Given the description of an element on the screen output the (x, y) to click on. 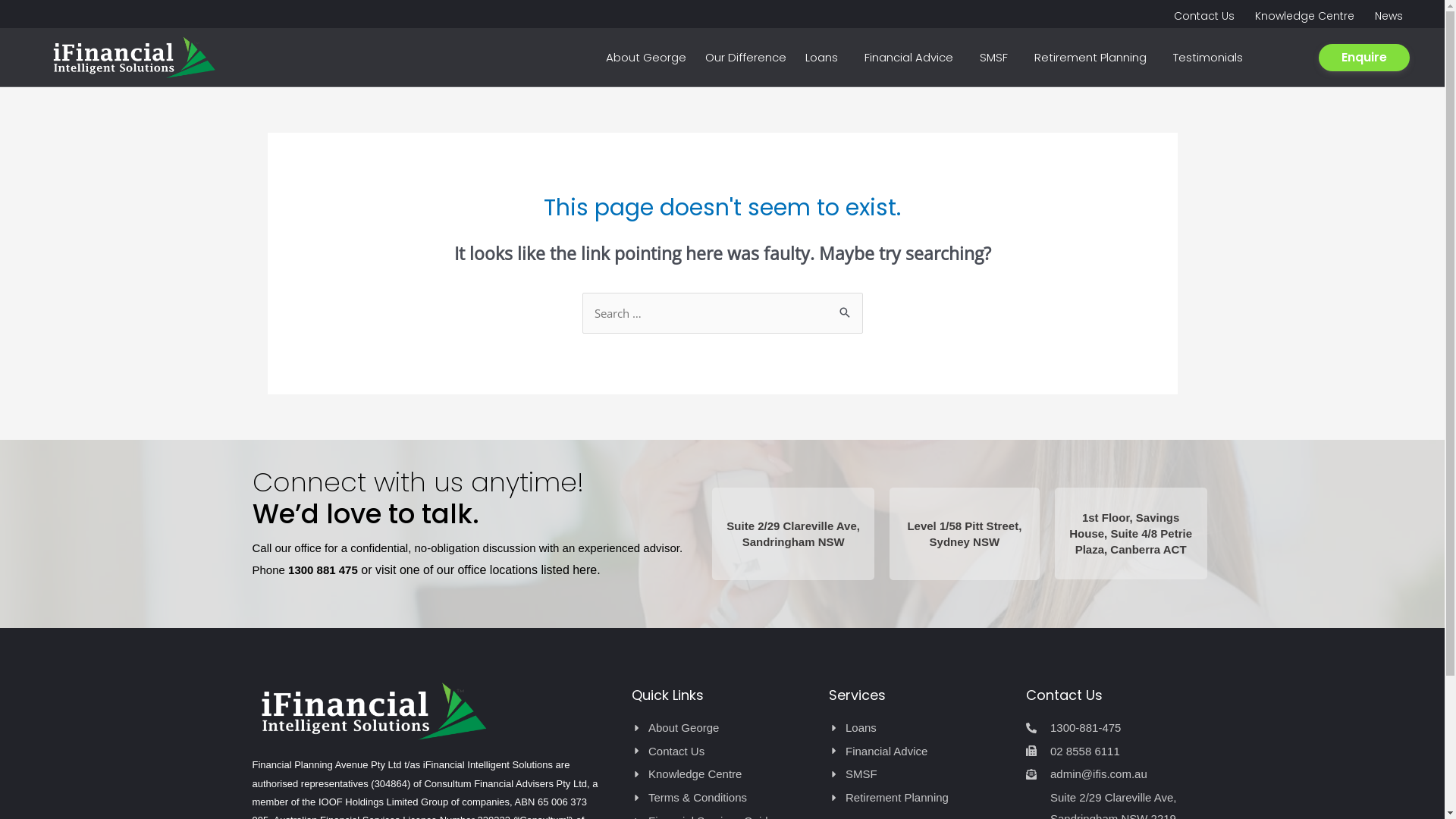
News Element type: text (1388, 15)
SMSF Element type: text (997, 57)
Financial Advice Element type: text (912, 57)
1300-881-475 Element type: text (1116, 727)
Knowledge Centre Element type: text (1304, 15)
Contact Us Element type: text (721, 751)
Loans Element type: text (825, 57)
Loans Element type: text (919, 727)
Contact Us Element type: text (1203, 15)
Our Difference Element type: text (745, 57)
Search Element type: text (845, 307)
Enquire Element type: text (1363, 57)
Terms & Conditions Element type: text (721, 797)
About George Element type: text (646, 57)
admin@ifis.com.au Element type: text (1116, 773)
Testimonials Element type: text (1207, 57)
Knowledge Centre Element type: text (721, 773)
About George Element type: text (721, 727)
SMSF Element type: text (919, 773)
Financial Advice Element type: text (919, 751)
Retirement Planning Element type: text (919, 797)
Retirement Planning Element type: text (1093, 57)
